Given the description of an element on the screen output the (x, y) to click on. 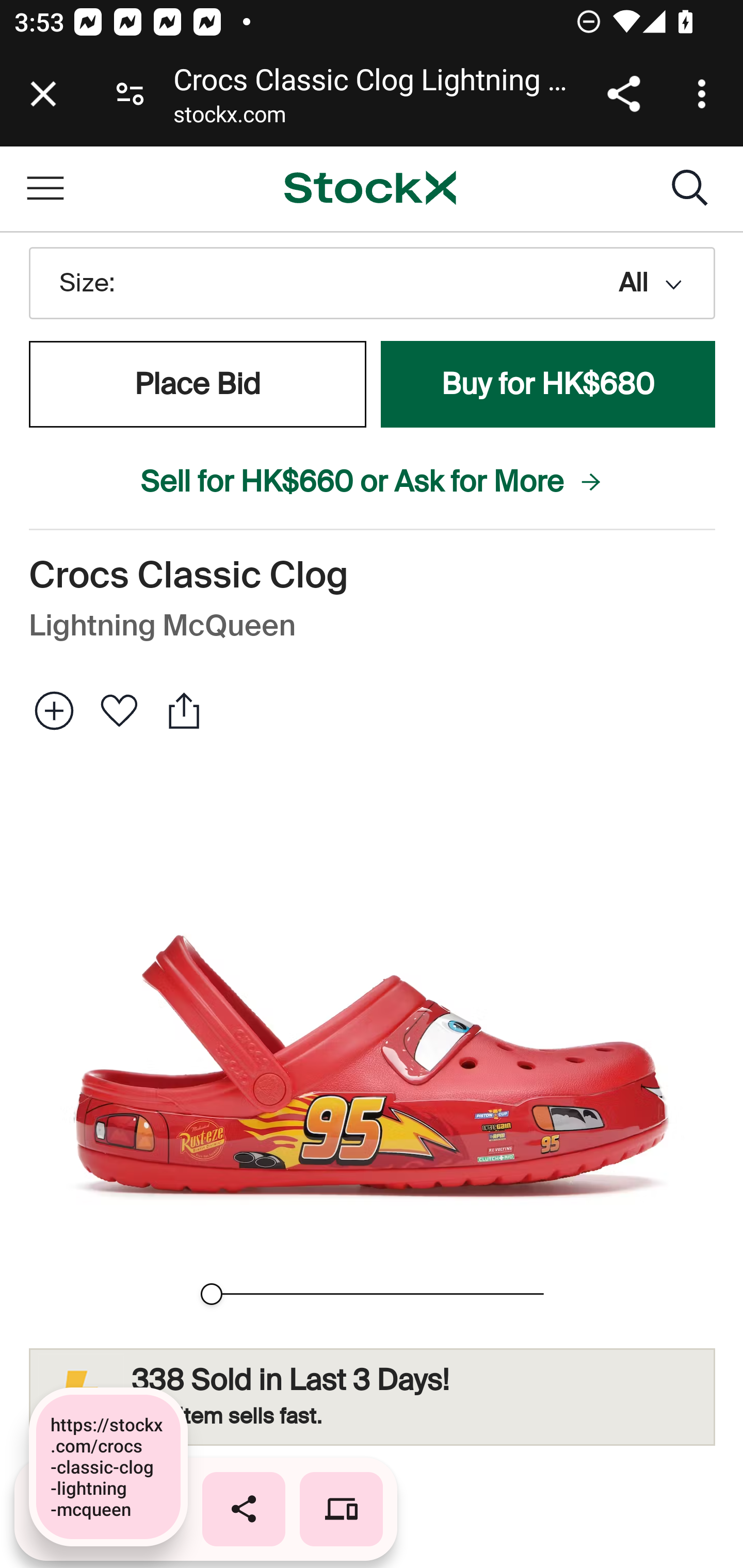
Close tab (43, 93)
Share link address (623, 93)
Customize and control Google Chrome (705, 93)
Connection is secure (129, 93)
stockx.com (229, 117)
